Given the description of an element on the screen output the (x, y) to click on. 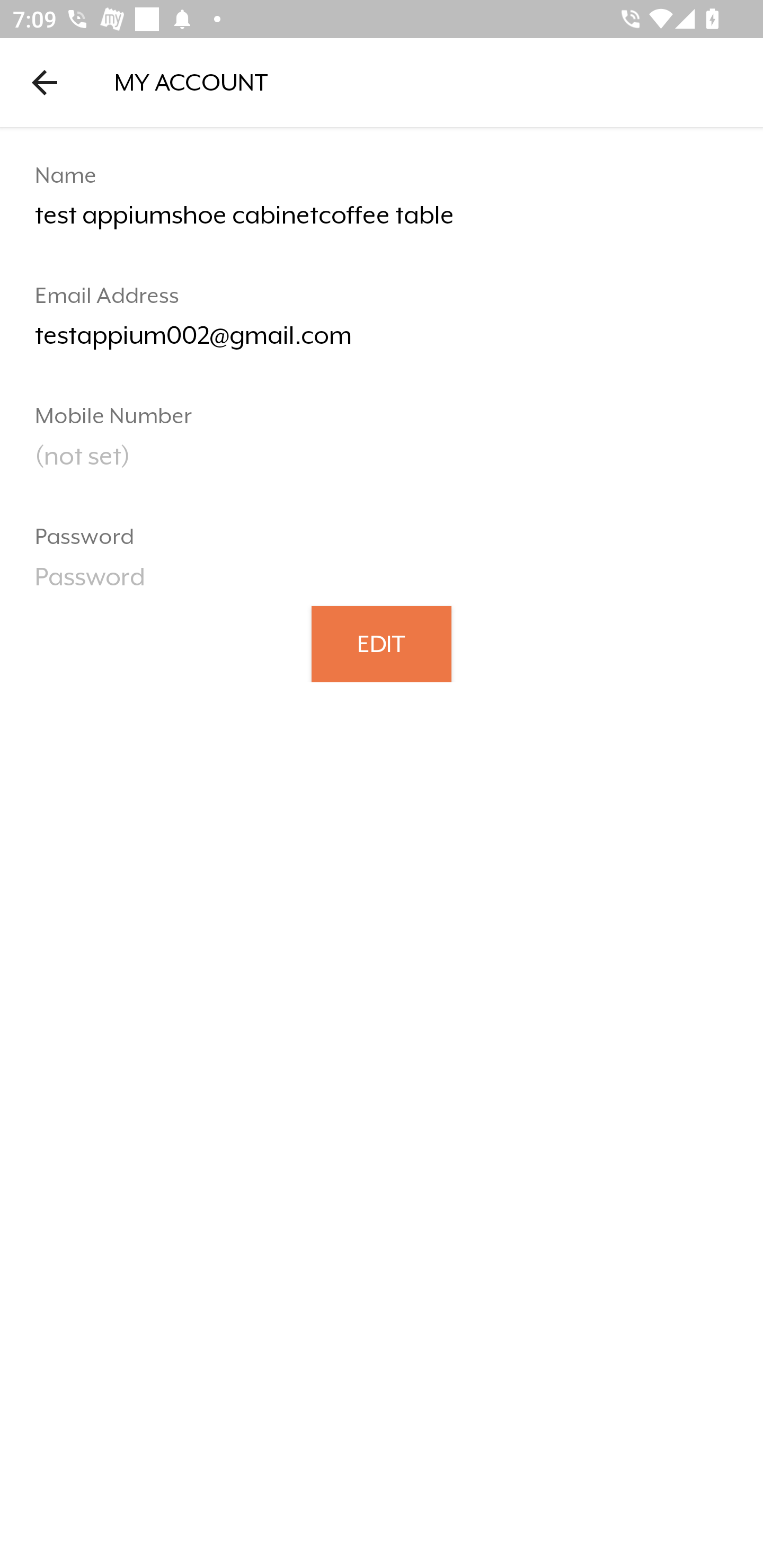
Navigate up (44, 82)
test appiumshoe cabinetcoffee table (381, 222)
testappium002@gmail.com (381, 342)
Password (381, 583)
EDIT (381, 643)
